Given the description of an element on the screen output the (x, y) to click on. 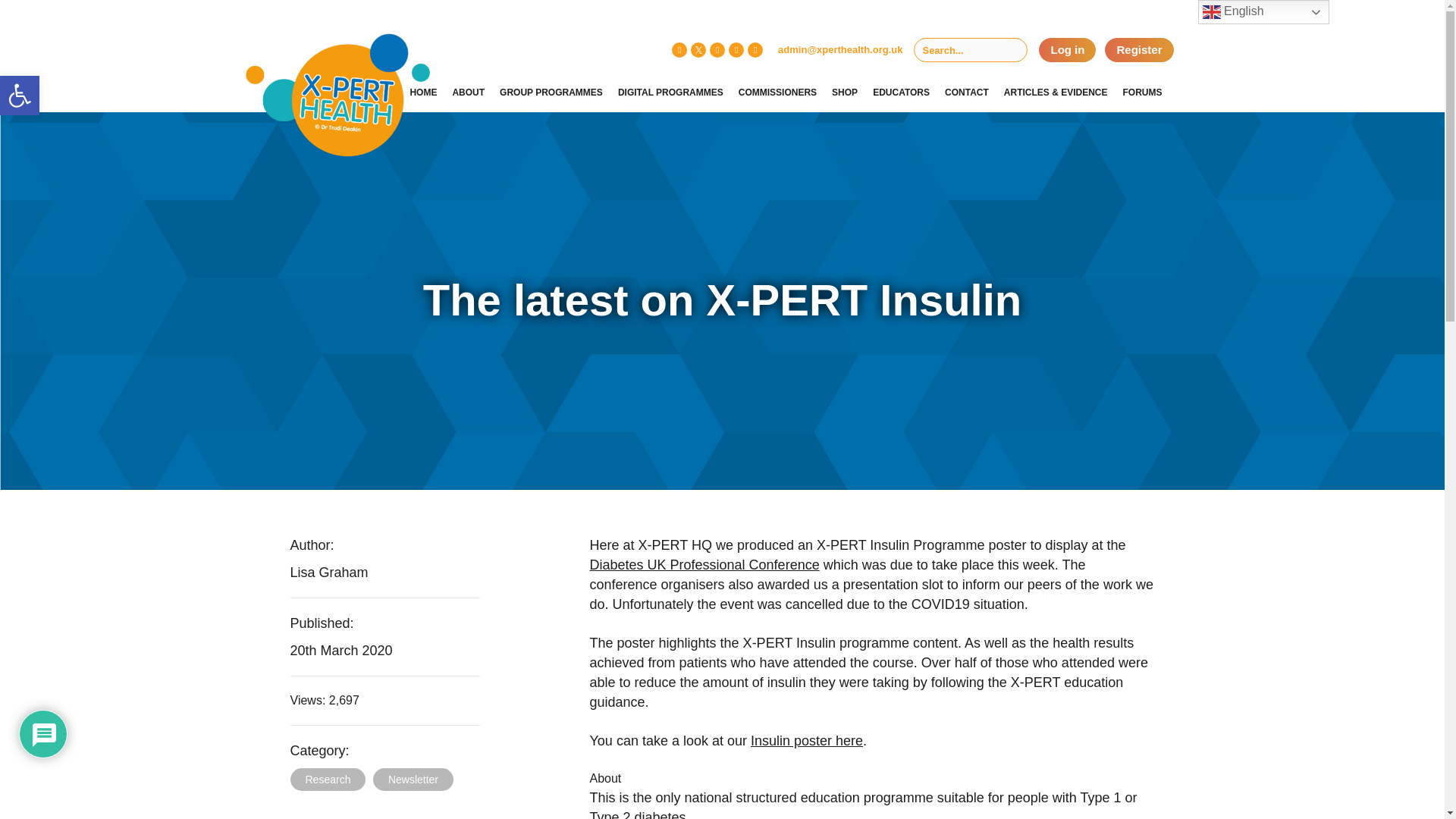
Accessibility Tools (19, 95)
Accessibility Tools (19, 95)
EDUCATORS (901, 92)
Log in (1067, 49)
HOME (423, 92)
Login (1067, 49)
X-PERT Health (304, 63)
COMMISSIONERS (778, 92)
CONTACT (966, 92)
ABOUT (467, 92)
Register (1139, 49)
SHOP (19, 95)
GROUP PROGRAMMES (844, 92)
DIGITAL PROGRAMMES (551, 92)
